Given the description of an element on the screen output the (x, y) to click on. 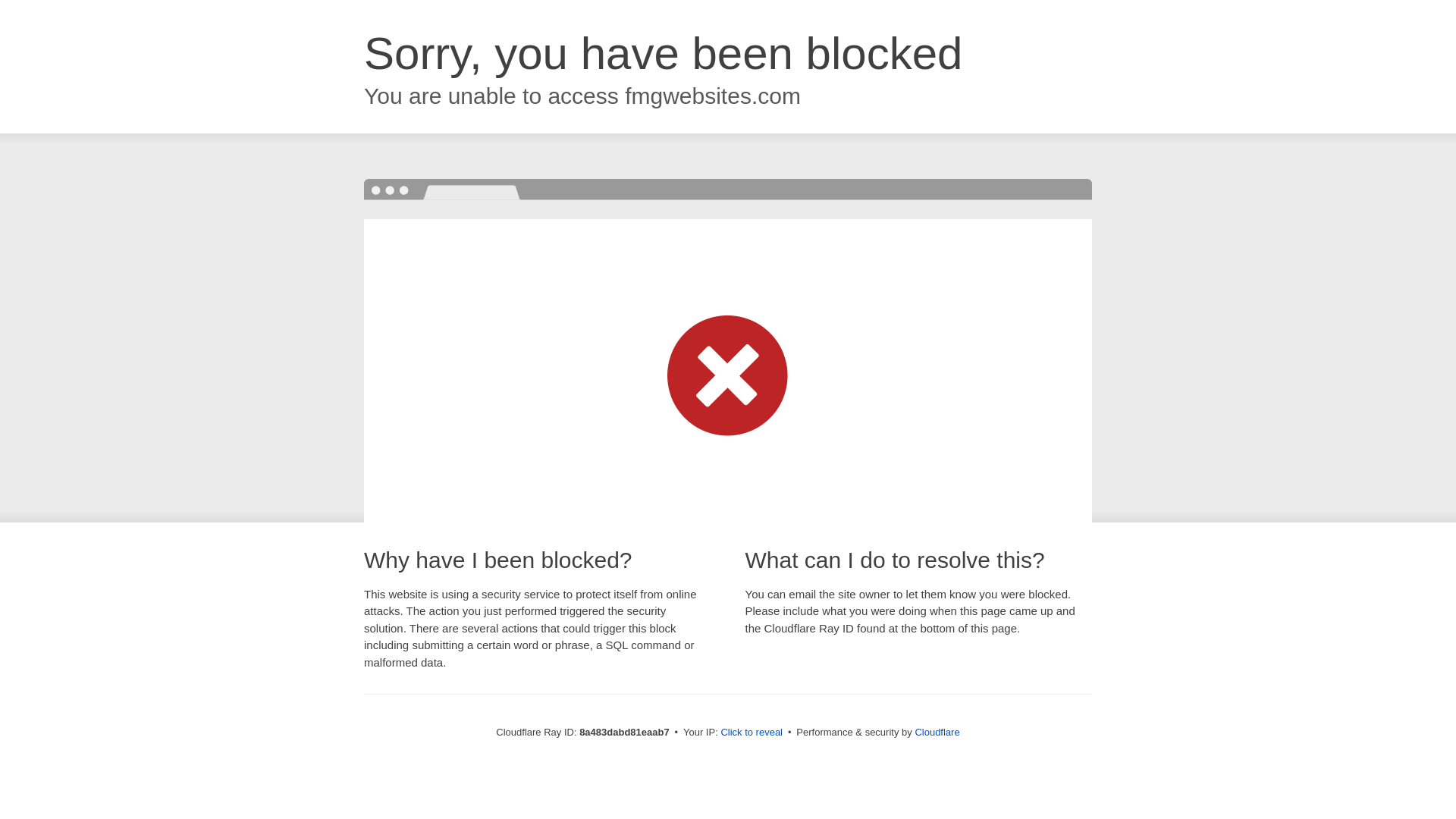
Click to reveal (751, 732)
Cloudflare (936, 731)
